Given the description of an element on the screen output the (x, y) to click on. 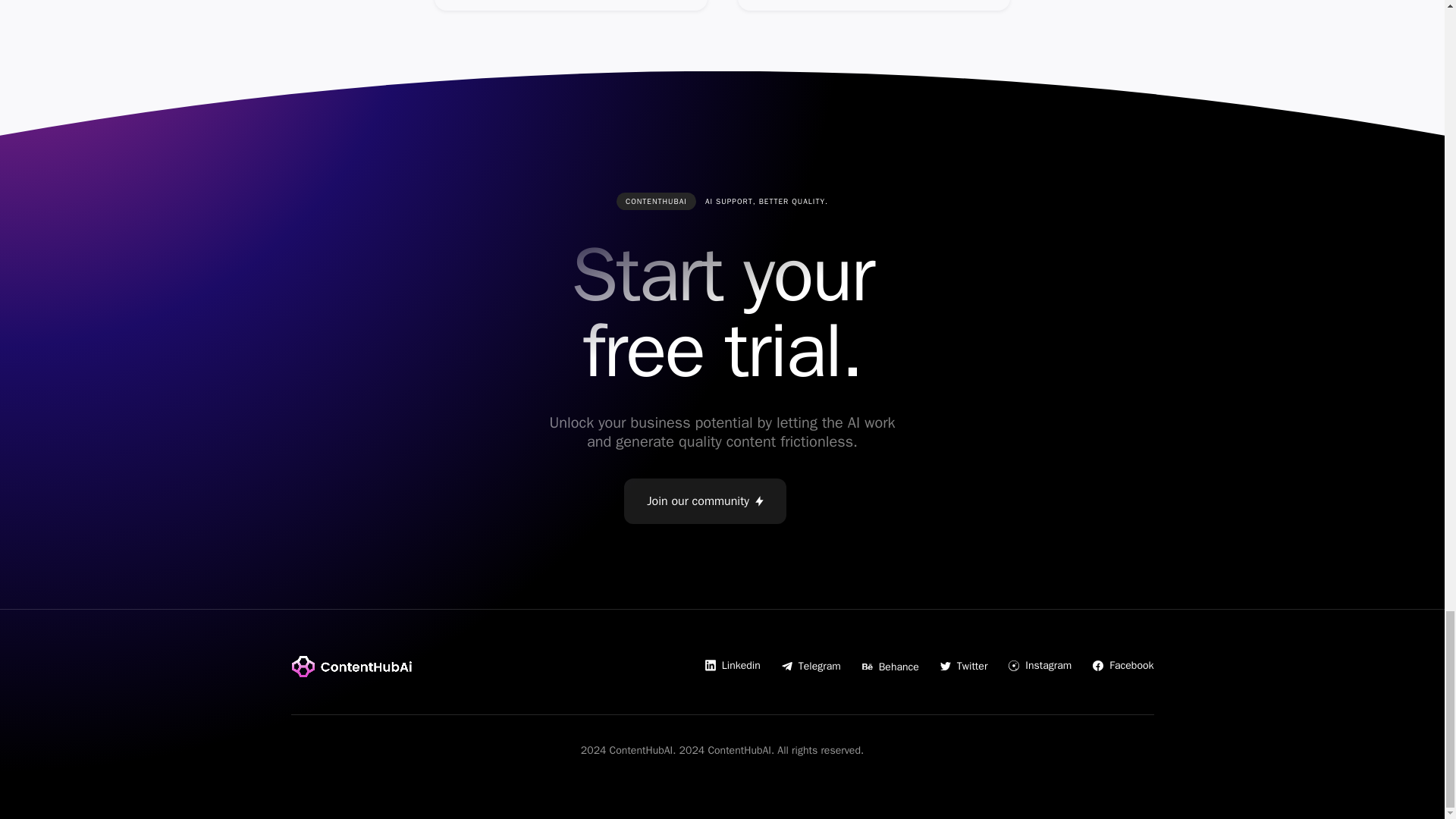
Join our community (705, 501)
